Given the description of an element on the screen output the (x, y) to click on. 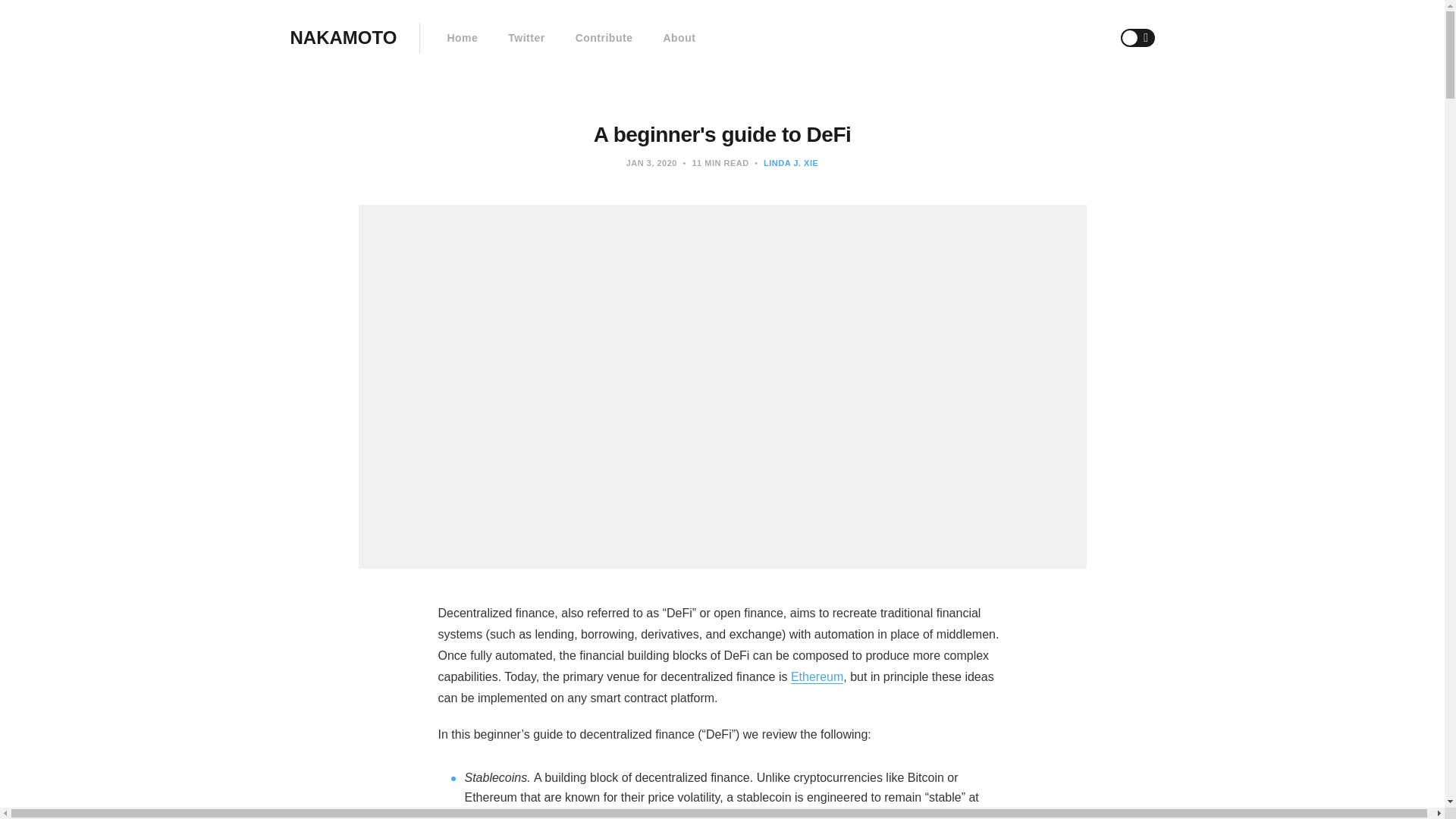
Linda J. Xie (790, 162)
About (678, 37)
Contribute (604, 37)
Ethereum (816, 676)
Home (461, 37)
LINDA J. XIE (790, 162)
Twitter (526, 37)
NAKAMOTO (342, 37)
